Given the description of an element on the screen output the (x, y) to click on. 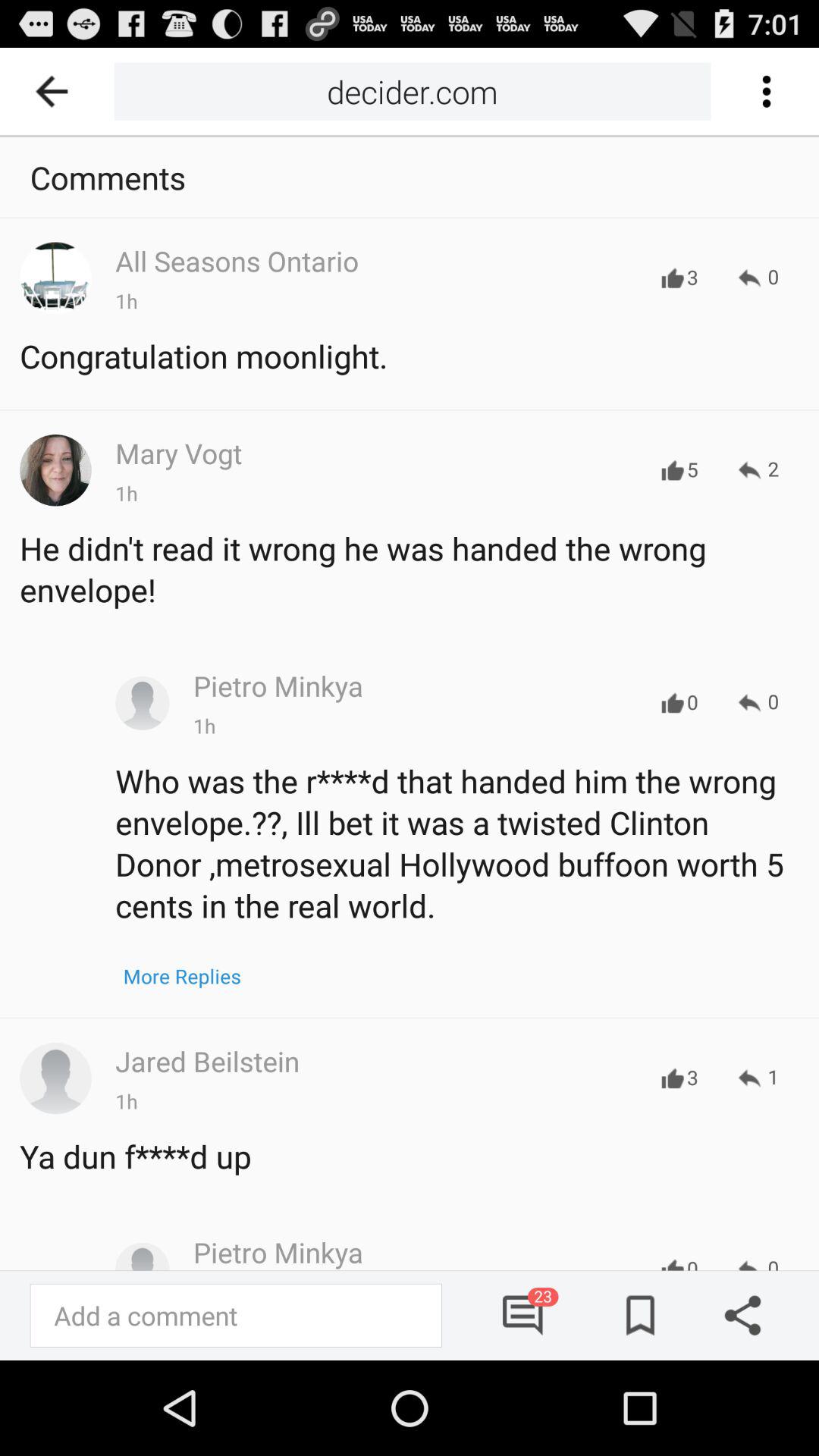
launch the 1 (758, 1078)
